Given the description of an element on the screen output the (x, y) to click on. 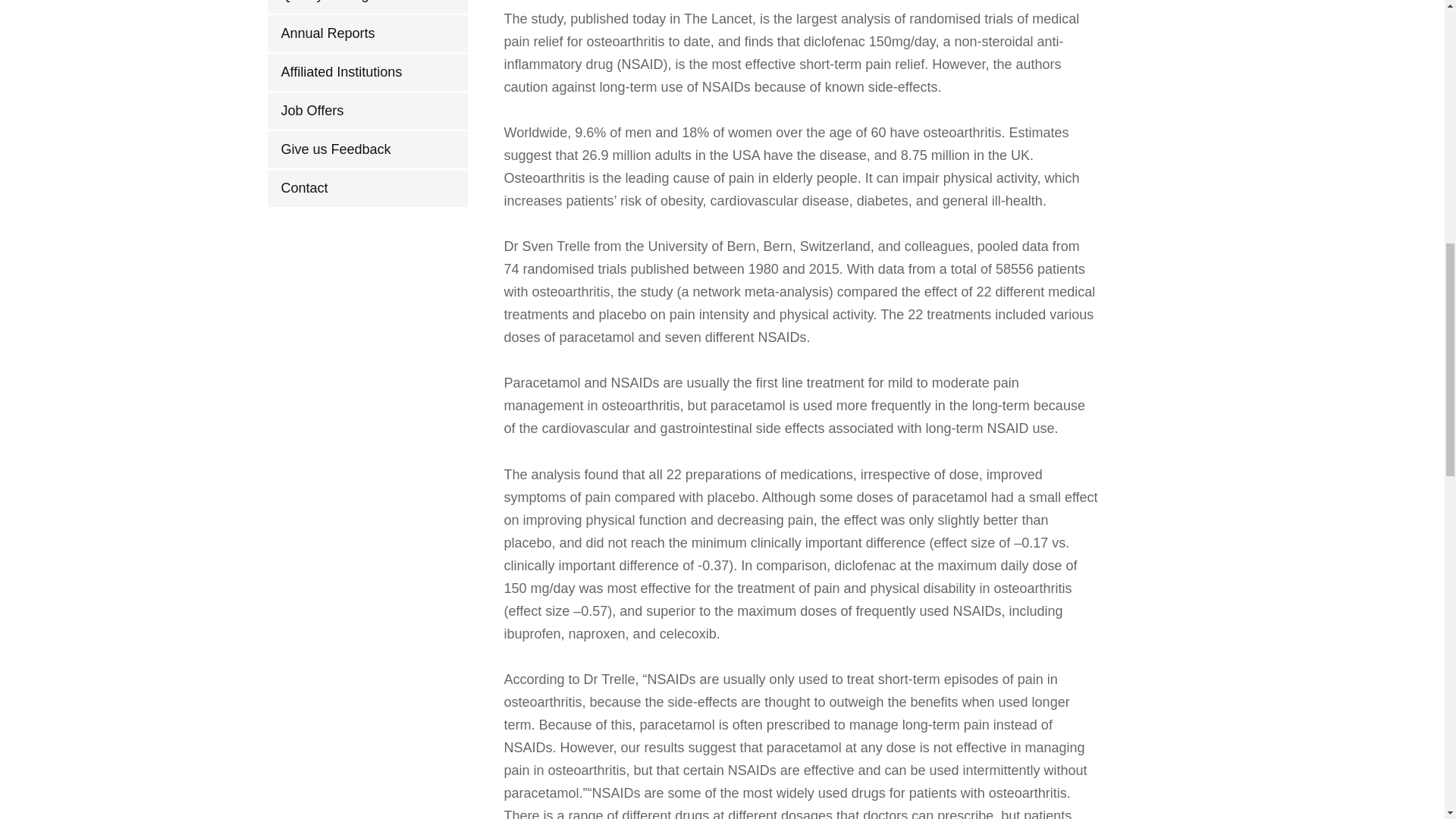
Annual Reports (366, 33)
Give us Feedback (366, 149)
Affiliated Institutions (366, 72)
Contact (366, 188)
Quality Management (366, 6)
Job Offers (366, 110)
